Given the description of an element on the screen output the (x, y) to click on. 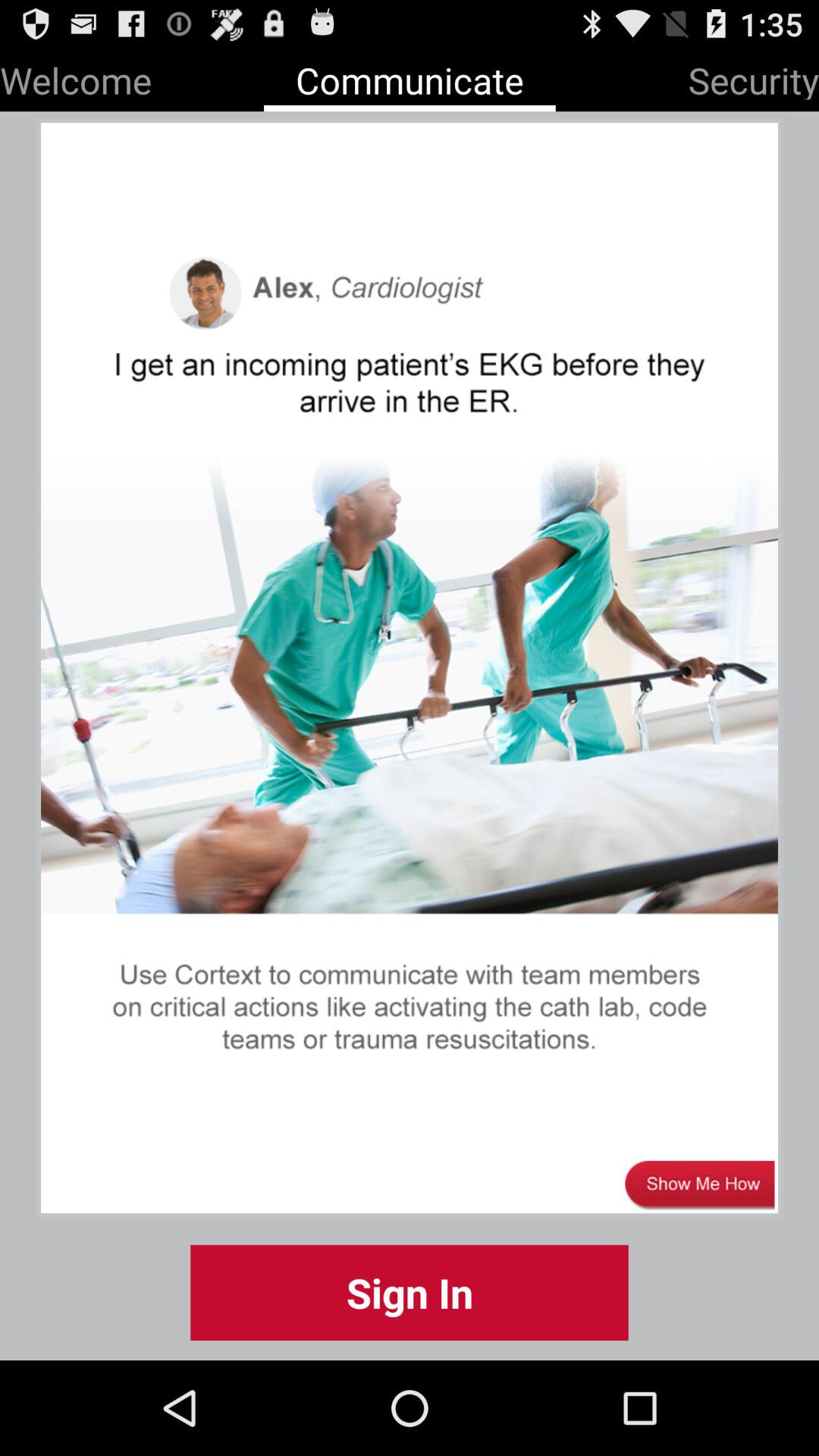
select the item at the top right corner (753, 77)
